Given the description of an element on the screen output the (x, y) to click on. 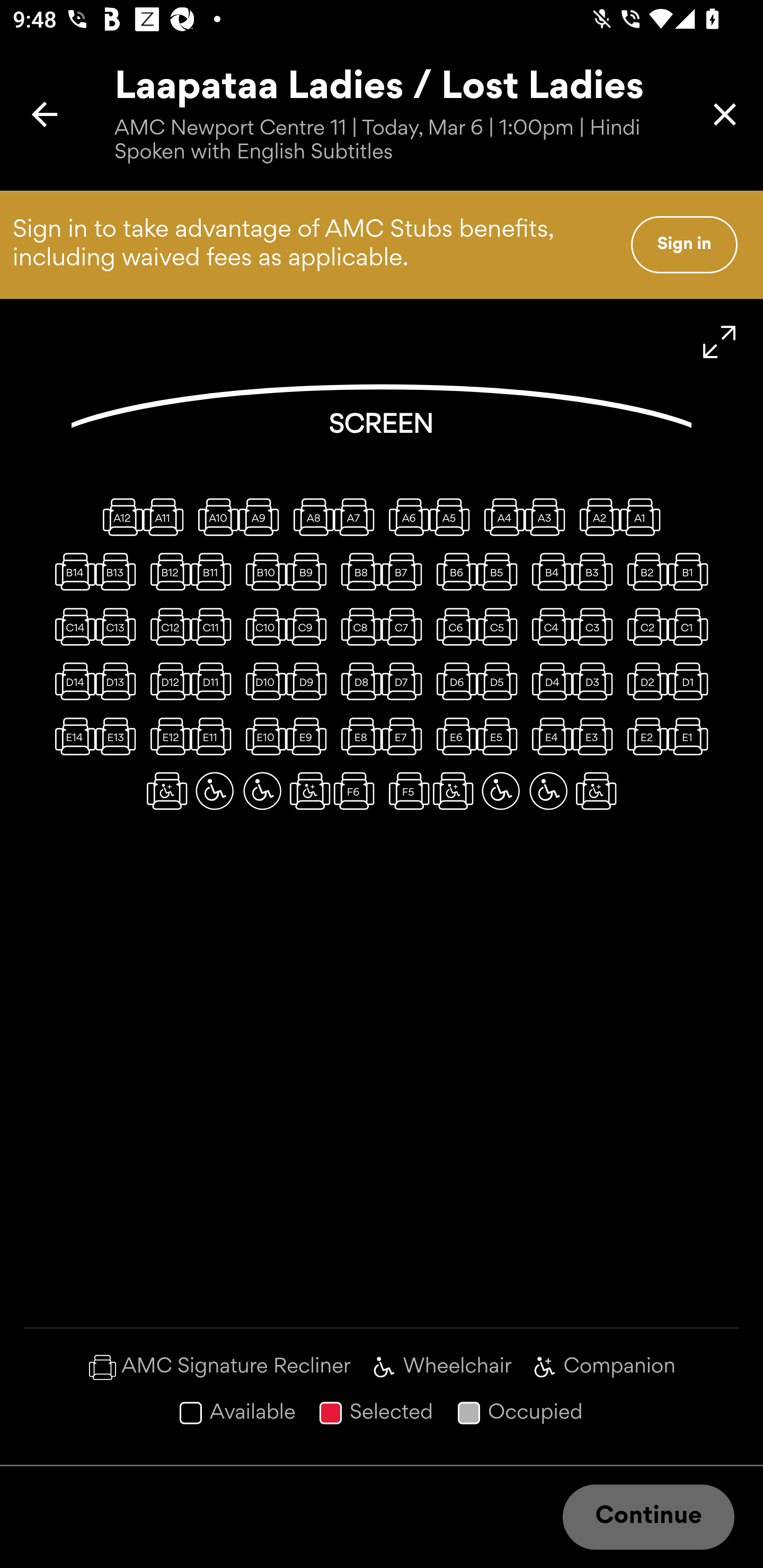
Back (44, 114)
Close (724, 114)
Sign in (684, 244)
Zoom (719, 342)
A12, Regular seat, available (119, 516)
A11, Regular seat, available (166, 516)
A10, Regular seat, available (214, 516)
A9, Regular seat, available (262, 516)
A8, Regular seat, available (310, 516)
A7, Regular seat, available (357, 516)
A6, Regular seat, available (404, 516)
A5, Regular seat, available (452, 516)
A4, Regular seat, available (500, 516)
A3, Regular seat, available (548, 516)
A2, Regular seat, available (595, 516)
A1, Regular seat, available (643, 516)
B14, Regular seat, available (71, 571)
B13, Regular seat, available (119, 571)
B12, Regular seat, available (166, 571)
B11, Regular seat, available (214, 571)
B10, Regular seat, available (262, 571)
B9, Regular seat, available (310, 571)
B8, Regular seat, available (357, 571)
B7, Regular seat, available (404, 571)
B6, Regular seat, available (452, 571)
B5, Regular seat, available (500, 571)
B4, Regular seat, available (548, 571)
B3, Regular seat, available (595, 571)
B2, Regular seat, available (643, 571)
B1, Regular seat, available (691, 571)
C14, Regular seat, available (71, 625)
C13, Regular seat, available (119, 625)
C12, Regular seat, available (166, 625)
C11, Regular seat, available (214, 625)
C10, Regular seat, available (262, 625)
C9, Regular seat, available (310, 625)
C8, Regular seat, available (357, 625)
C7, Regular seat, available (404, 625)
C6, Regular seat, available (452, 625)
C5, Regular seat, available (500, 625)
C4, Regular seat, available (548, 625)
C3, Regular seat, available (595, 625)
C2, Regular seat, available (643, 625)
C1, Regular seat, available (691, 625)
D14, Regular seat, available (71, 680)
D13, Regular seat, available (119, 680)
D12, Regular seat, available (166, 680)
D11, Regular seat, available (214, 680)
D10, Regular seat, available (262, 680)
D9, Regular seat, available (310, 680)
D8, Regular seat, available (357, 680)
D7, Regular seat, available (404, 680)
D6, Regular seat, available (452, 680)
D5, Regular seat, available (500, 680)
D4, Regular seat, available (548, 680)
D3, Regular seat, available (595, 680)
D2, Regular seat, available (643, 680)
D1, Regular seat, available (691, 680)
E14, Regular seat, available (71, 735)
E13, Regular seat, available (119, 735)
E12, Regular seat, available (166, 735)
E11, Regular seat, available (214, 735)
E10, Regular seat, available (262, 735)
E9, Regular seat, available (310, 735)
E8, Regular seat, available (357, 735)
E7, Regular seat, available (404, 735)
E6, Regular seat, available (452, 735)
E5, Regular seat, available (500, 735)
E4, Regular seat, available (548, 735)
E3, Regular seat, available (595, 735)
E2, Regular seat, available (643, 735)
E1, Regular seat, available (691, 735)
F10, Wheelchair companion seat, available (166, 790)
F9, Wheelchair space, available (214, 790)
F8, Wheelchair space, available (262, 790)
F7, Wheelchair companion seat, available (310, 790)
F6, Regular seat, available (357, 790)
F5, Regular seat, available (404, 790)
F4, Wheelchair companion seat, available (452, 790)
F3, Wheelchair space, available (500, 790)
F2, Wheelchair space, available (548, 790)
F1, Wheelchair companion seat, available (595, 790)
